Given the description of an element on the screen output the (x, y) to click on. 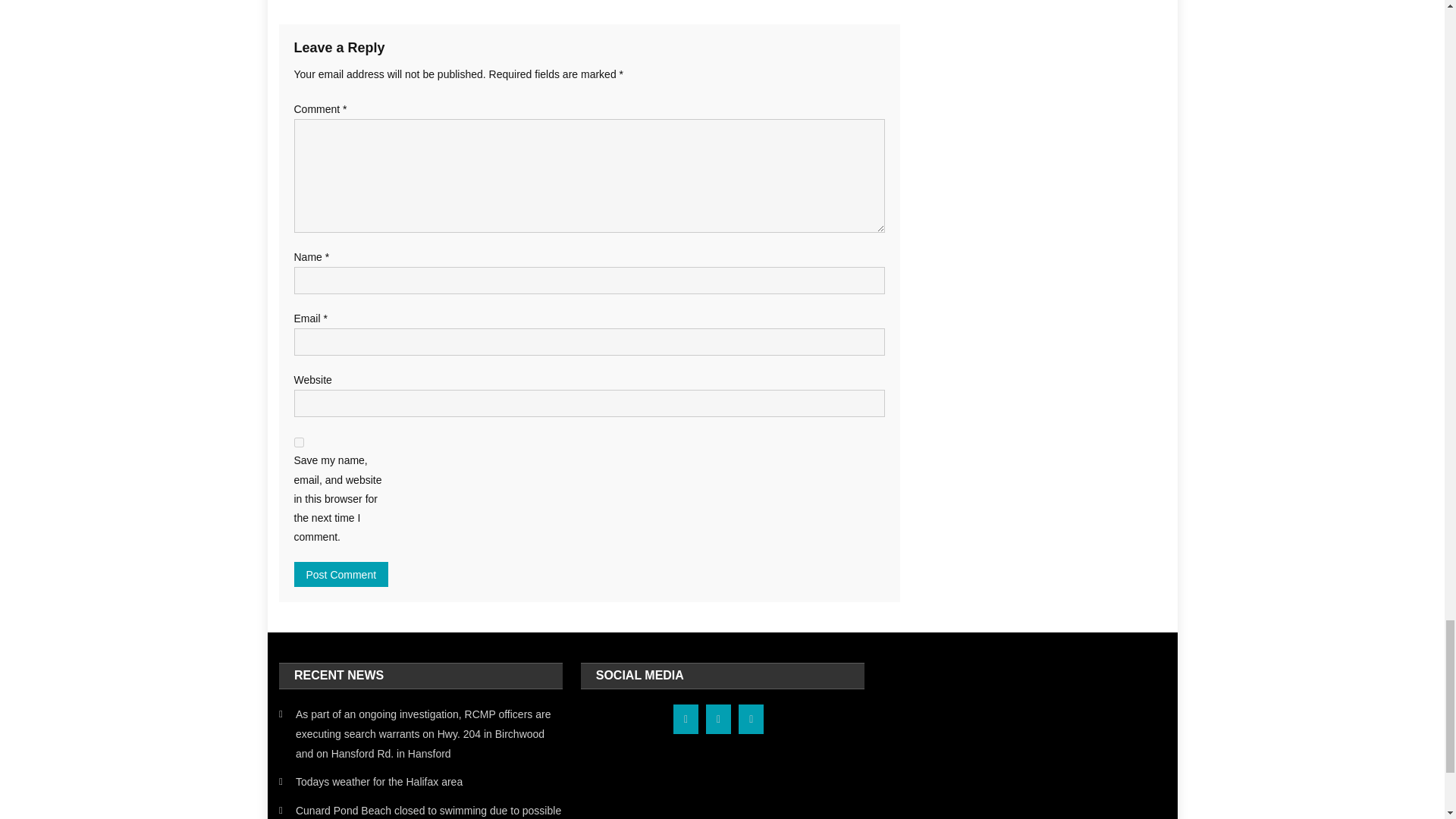
Post Comment (341, 574)
yes (299, 442)
Post Comment (341, 574)
